Given the description of an element on the screen output the (x, y) to click on. 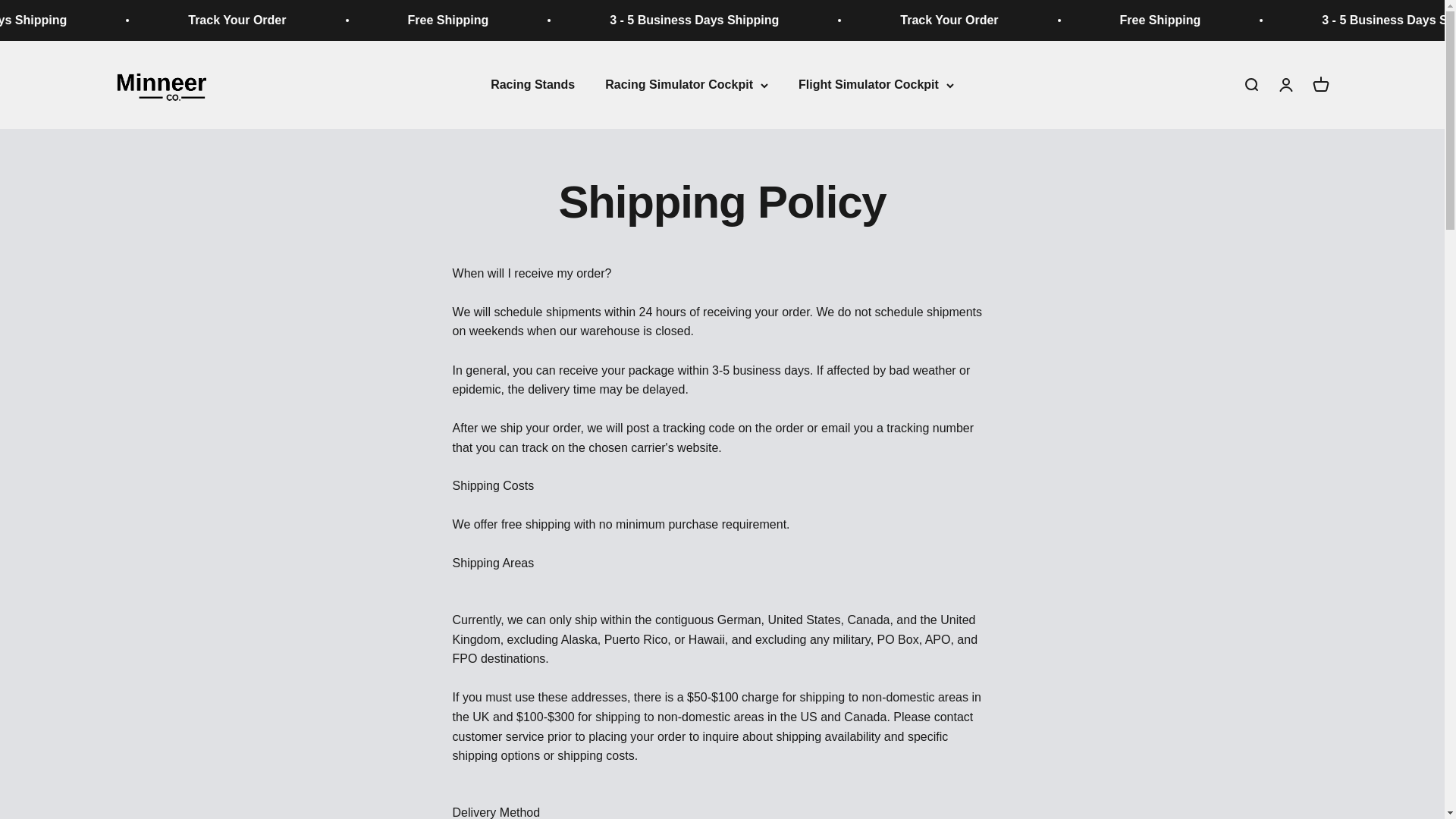
Open search (1250, 84)
3 - 5 Business Days Shipping (960, 19)
Track Your Order (508, 19)
Free Shipping (717, 19)
3 - 5 Business Days Shipping (254, 19)
Open account page (1285, 84)
Track Your Order (1214, 19)
Racing Stands (532, 83)
Free Shipping (1319, 84)
